Given the description of an element on the screen output the (x, y) to click on. 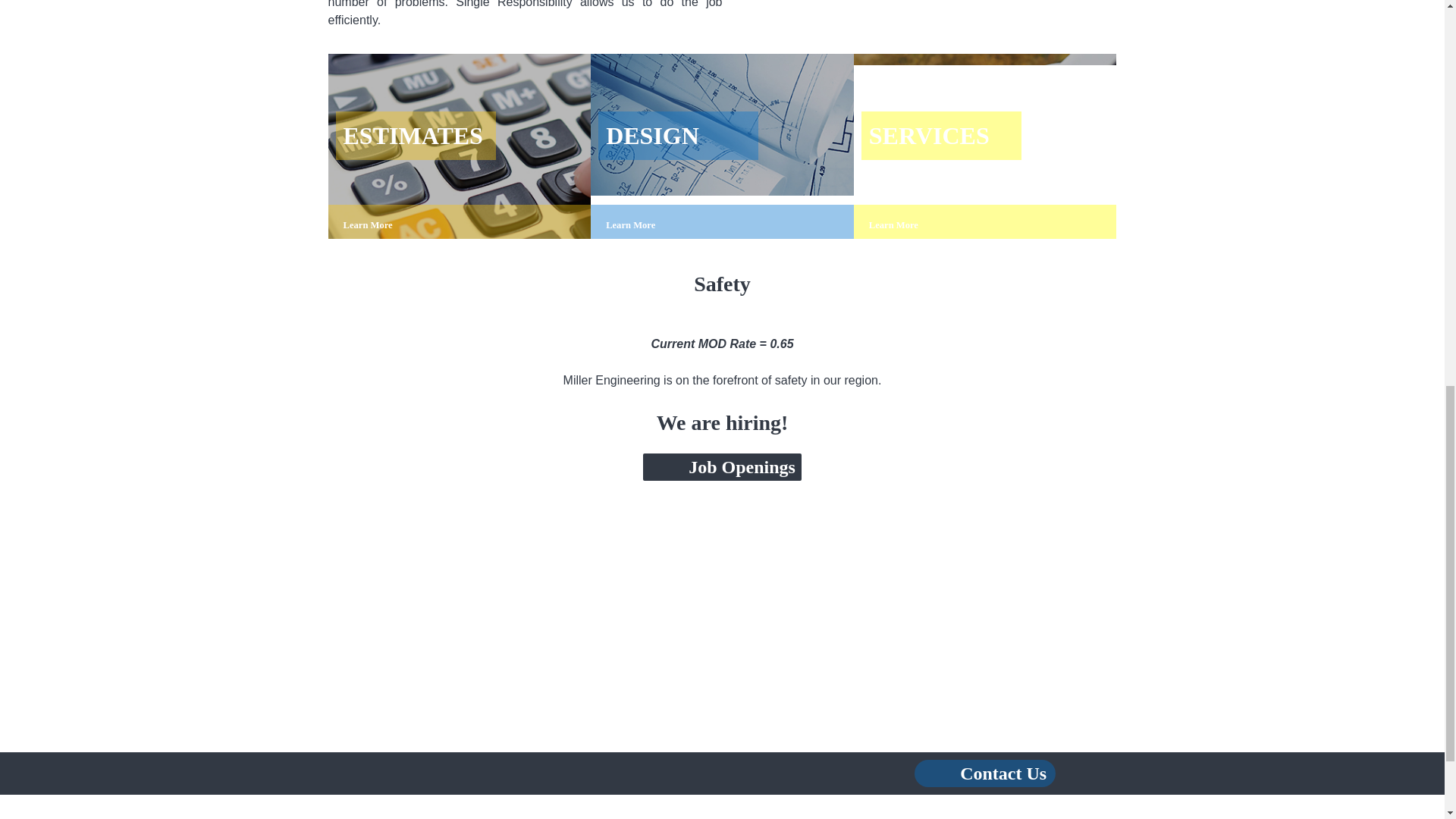
Job Openings (741, 466)
Miller Engineering Company (722, 816)
Contact Us (1002, 772)
